Given the description of an element on the screen output the (x, y) to click on. 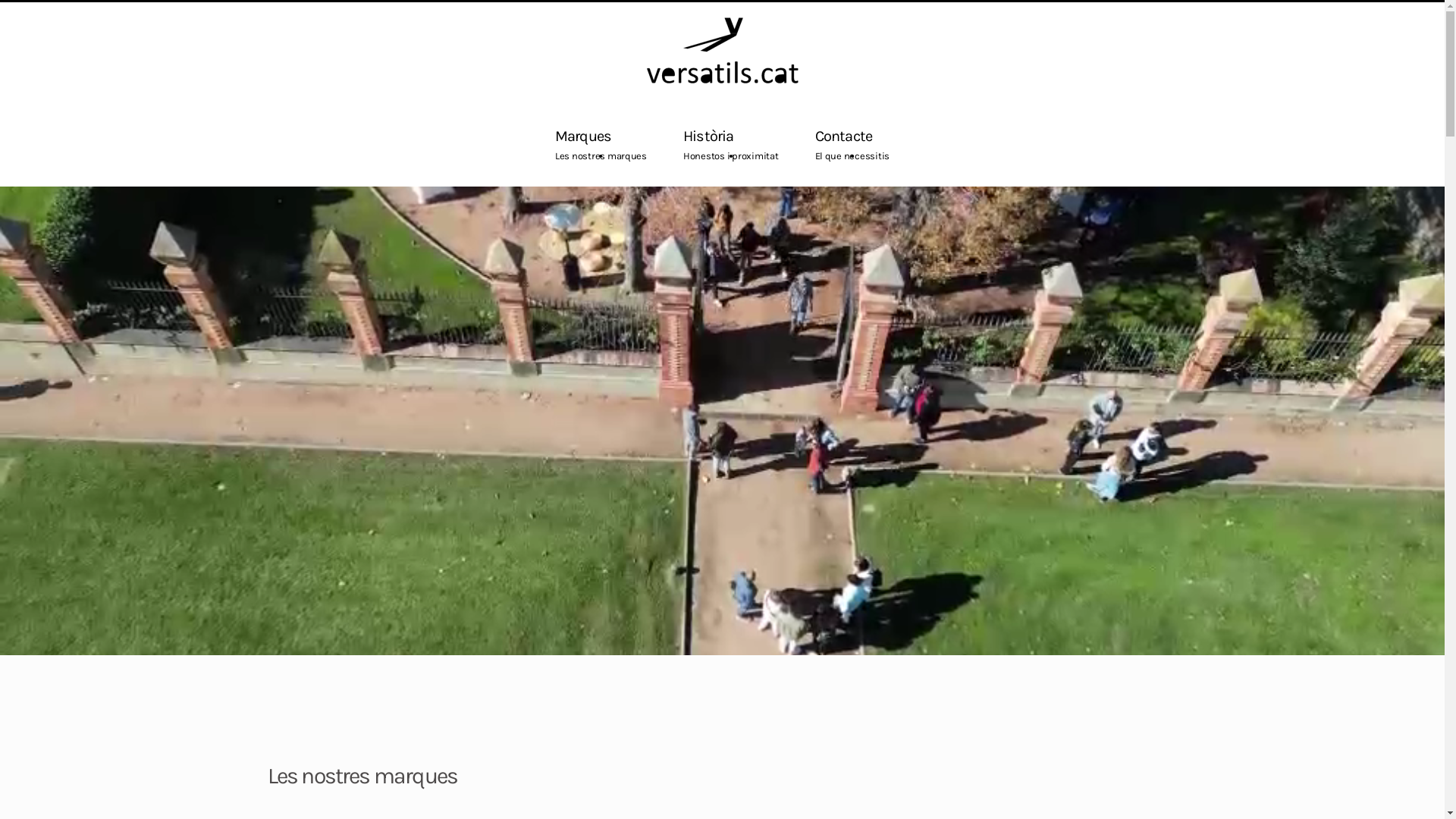
Marques
Les nostres marques Element type: text (600, 142)
Contacte
El que necessitis Element type: text (851, 142)
